Given the description of an element on the screen output the (x, y) to click on. 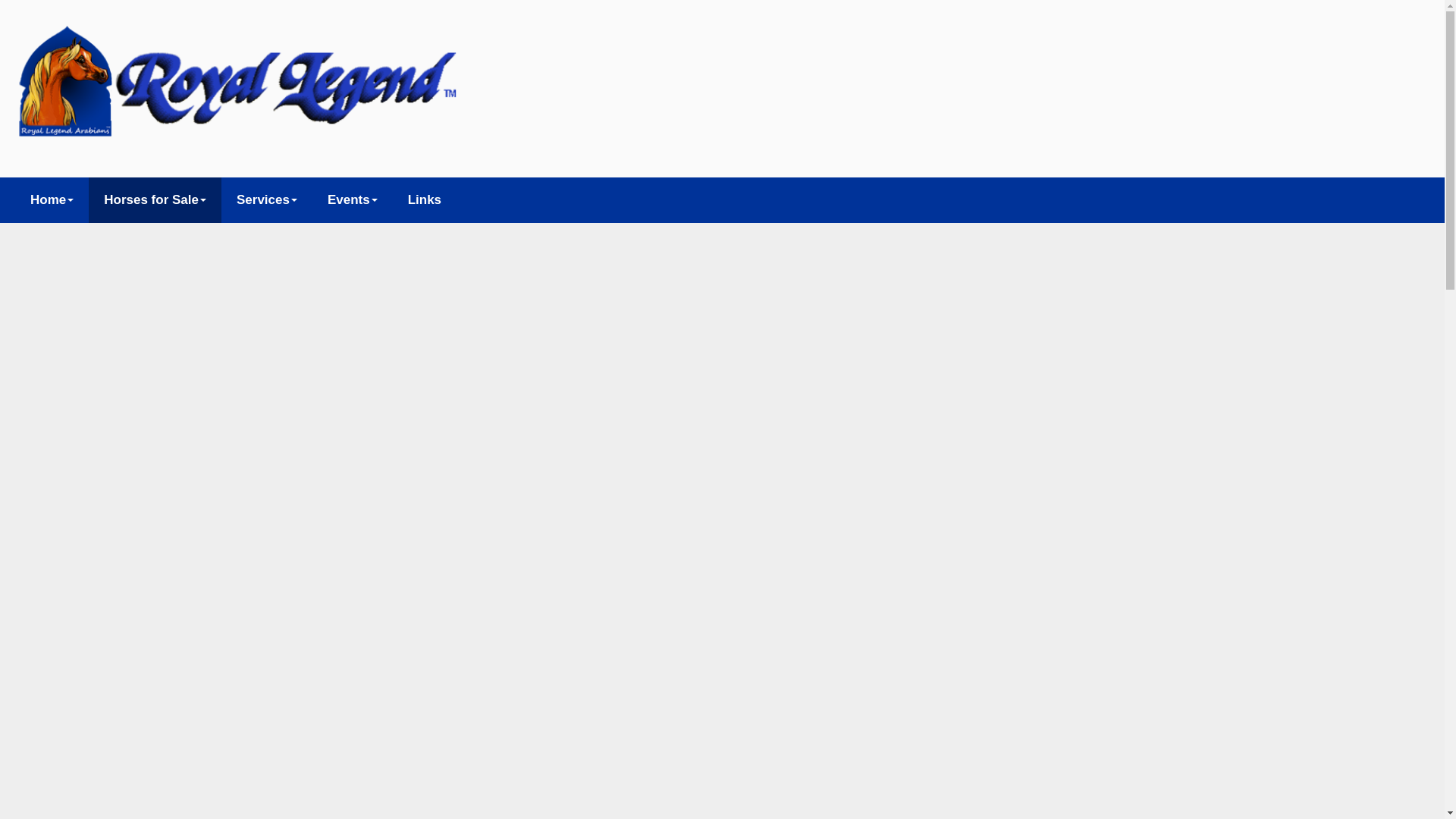
Home (51, 199)
Links (425, 199)
Services (267, 199)
Events (353, 199)
Horses for Sale (154, 199)
